Given the description of an element on the screen output the (x, y) to click on. 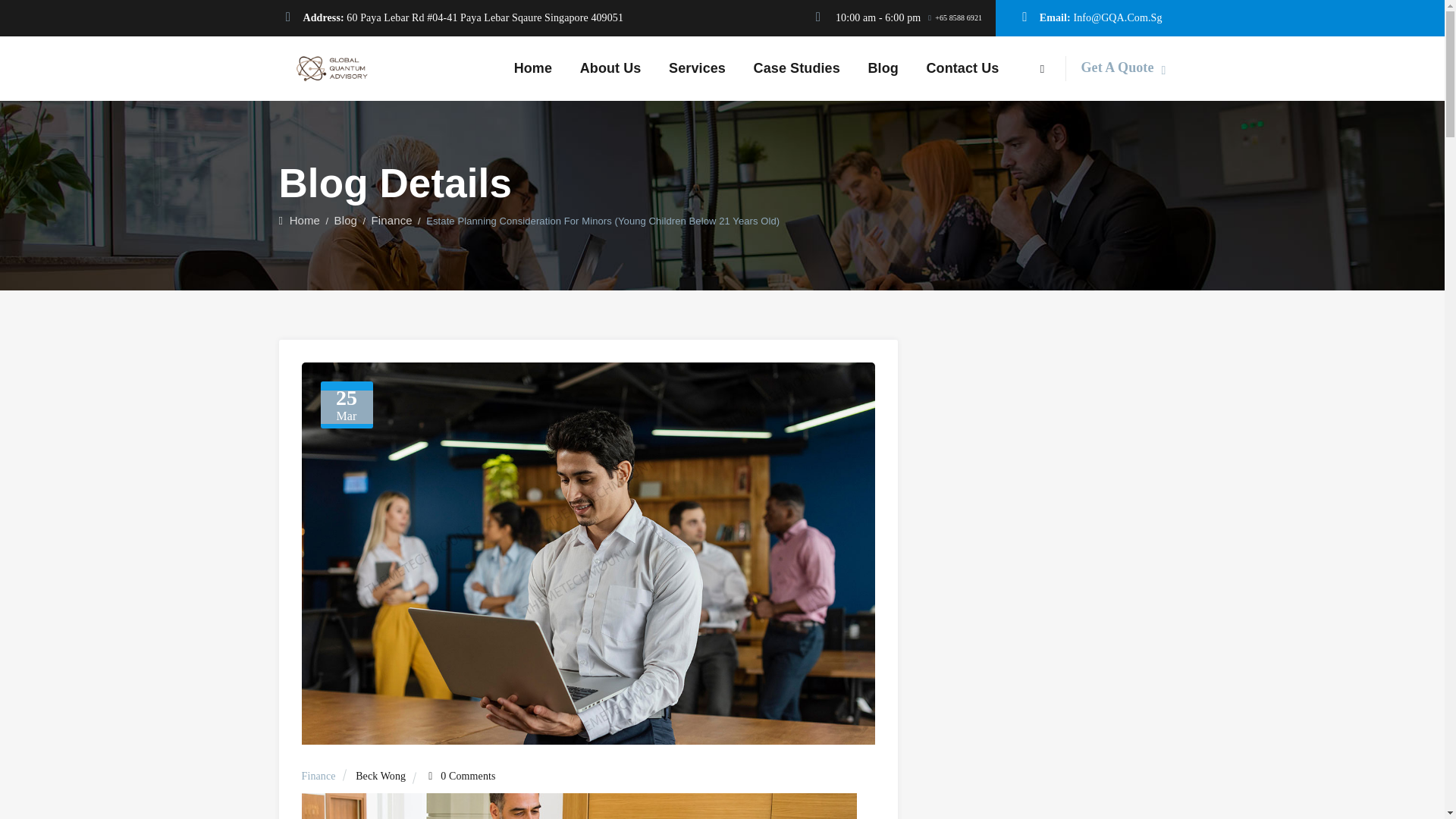
Get A Quote (1123, 67)
Contact Us (961, 68)
Beck Wong (380, 776)
Go to Blog. (345, 219)
About Us (610, 68)
Wills and Estate Planning (332, 68)
Home (532, 68)
0 Comments (468, 776)
Services (697, 68)
Finance (391, 219)
  Home (299, 219)
Go to Wills and Estate Planning. (299, 219)
Go to the Finance Category archives. (391, 219)
Blog (345, 219)
Finance (318, 776)
